Given the description of an element on the screen output the (x, y) to click on. 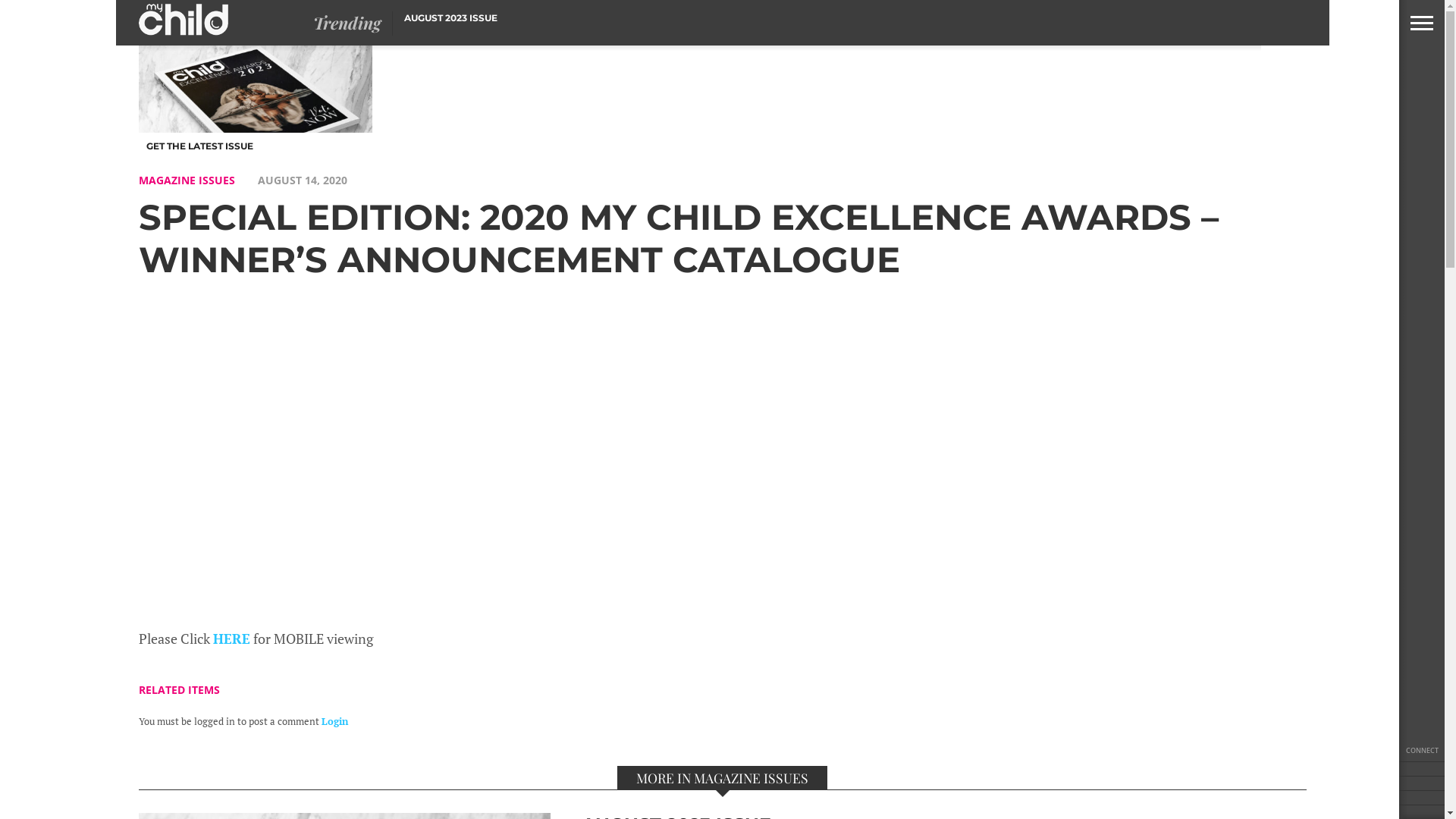
MAGAZINE ISSUES Element type: text (186, 179)
AUGUST 2023 ISSUE Element type: text (449, 17)
HERE Element type: text (230, 638)
Login Element type: text (334, 721)
